Given the description of an element on the screen output the (x, y) to click on. 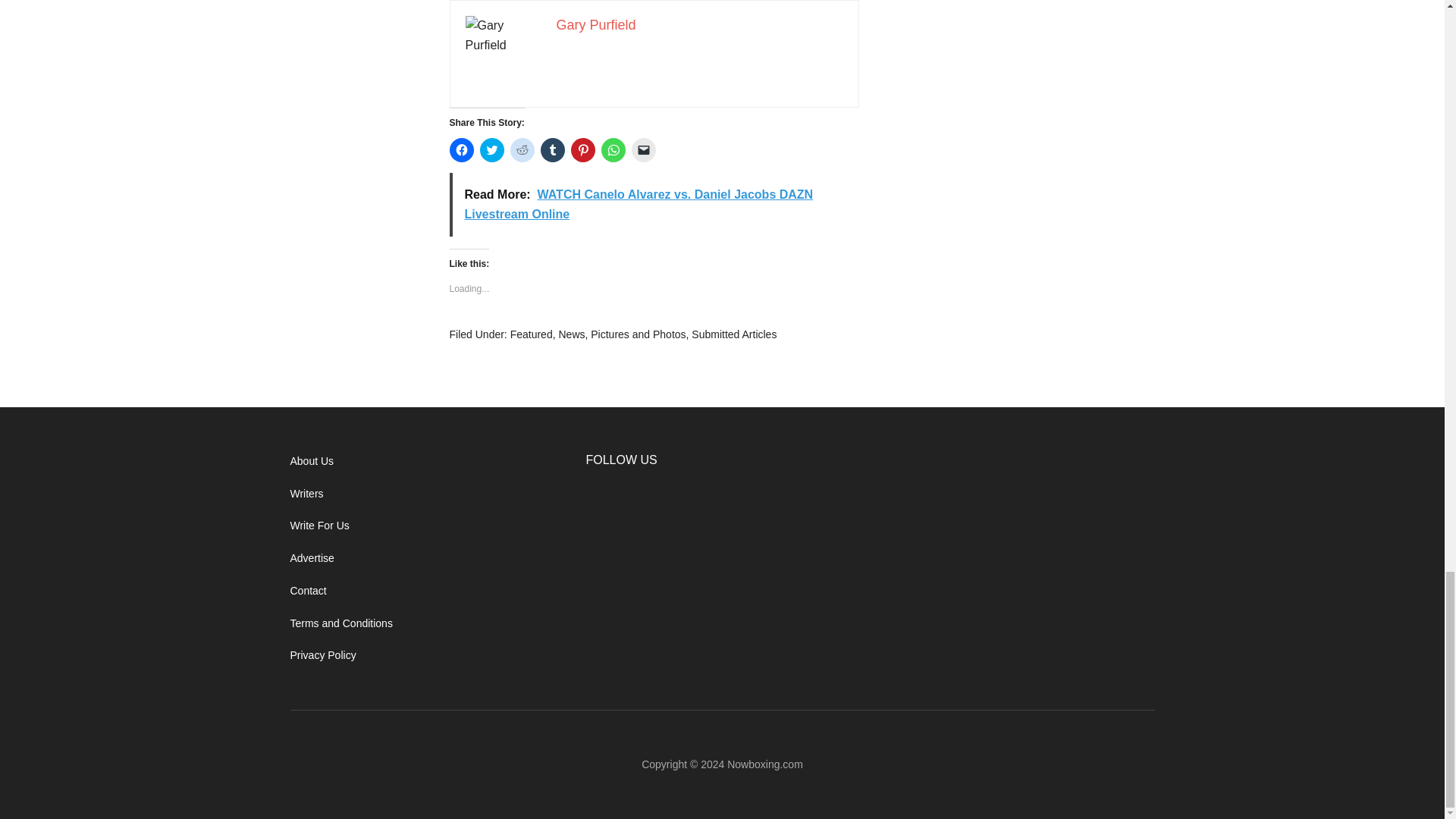
Click to share on Reddit (521, 150)
News (571, 334)
Click to share on WhatsApp (611, 150)
Gary Purfield (596, 24)
Featured (532, 334)
Click to email a link to a friend (642, 150)
Click to share on Pinterest (582, 150)
Submitted Articles (733, 334)
Click to share on Tumblr (552, 150)
